Given the description of an element on the screen output the (x, y) to click on. 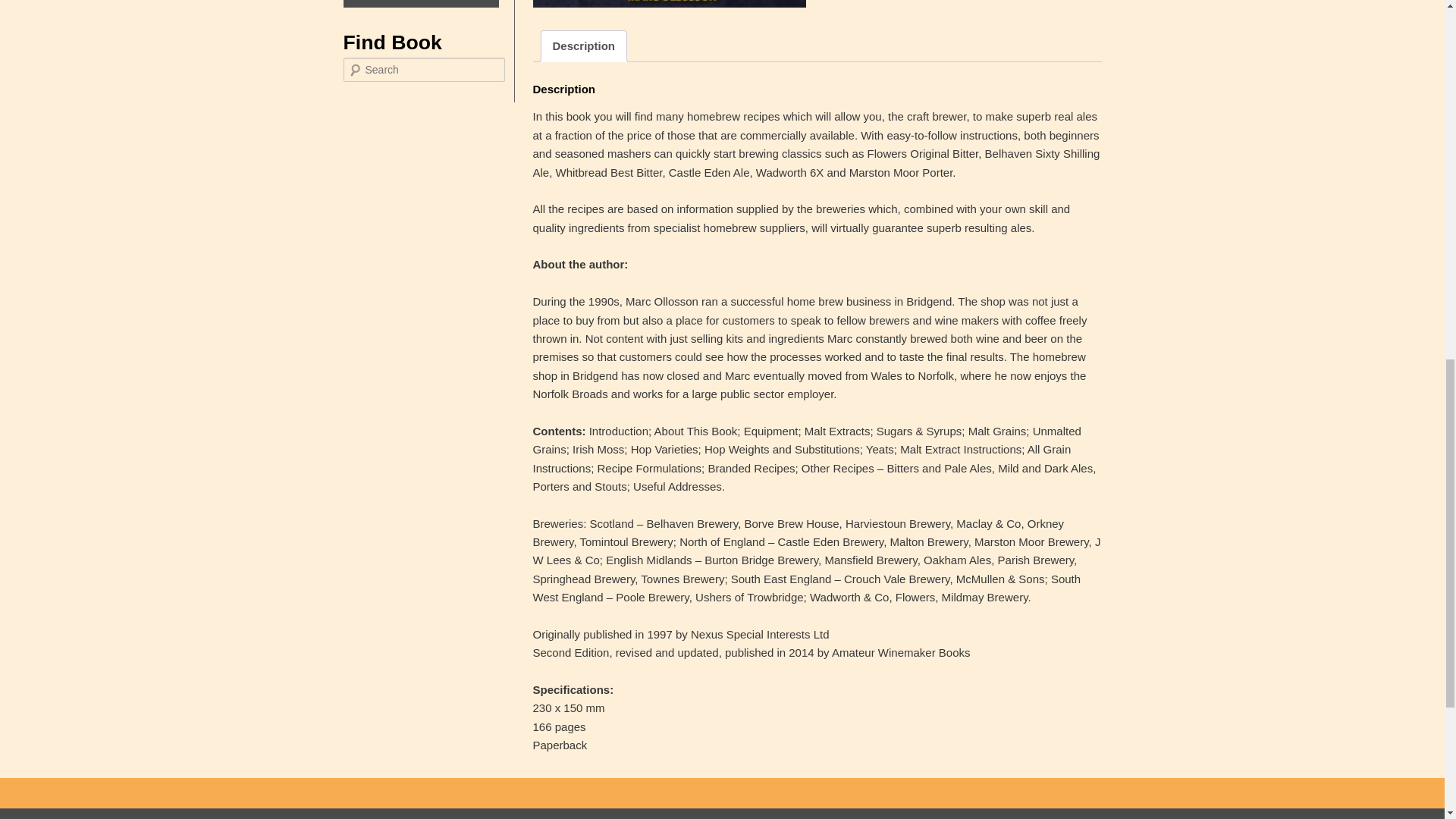
real-ales-homebrewer (668, 3)
Description (582, 45)
